Given the description of an element on the screen output the (x, y) to click on. 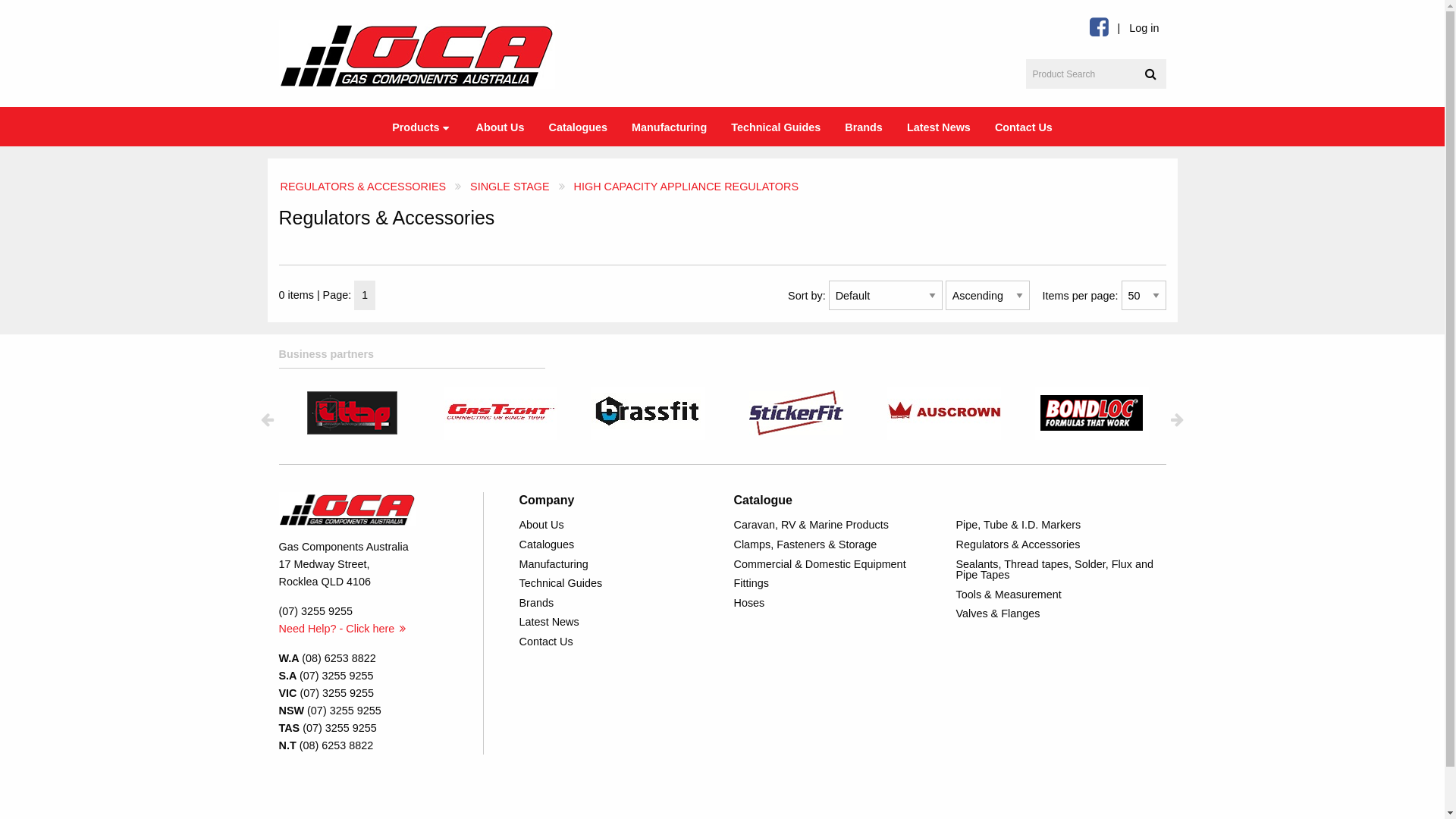
Latest News Element type: text (938, 125)
Latest News Element type: text (614, 622)
Caravan, RV & Marine Products Element type: text (839, 525)
Clamps, Fasteners & Storage Element type: text (839, 544)
Valves & Flanges Element type: text (1060, 614)
Technical Guides Element type: text (775, 125)
Next Element type: text (1176, 418)
Brands Element type: text (614, 602)
Fittings Element type: text (839, 583)
Brands Element type: text (863, 125)
Manufacturing Element type: text (614, 564)
Tools & Measurement Element type: text (1060, 594)
Commercial & Domestic Equipment Element type: text (839, 564)
Contact Us Element type: text (1023, 125)
Technical Guides Element type: text (614, 583)
Catalogues Element type: text (577, 125)
Log in Element type: text (1143, 28)
About Us Element type: text (500, 125)
About Us Element type: text (614, 525)
Need Help? - Click here Element type: text (342, 628)
Regulators & Accessories Element type: text (1060, 544)
Hoses Element type: text (839, 602)
Contact Us Element type: text (614, 641)
Business partners Element type: text (722, 357)
HIGH CAPACITY APPLIANCE REGULATORS Element type: text (686, 186)
Products Element type: text (421, 126)
SINGLE STAGE Element type: text (509, 186)
REGULATORS & ACCESSORIES Element type: text (363, 186)
Pipe, Tube & I.D. Markers Element type: text (1060, 525)
Sealants, Thread tapes, Solder, Flux and Pipe Tapes Element type: text (1060, 569)
Catalogues Element type: text (614, 544)
Previous Element type: text (266, 418)
Manufacturing Element type: text (668, 125)
